Given the description of an element on the screen output the (x, y) to click on. 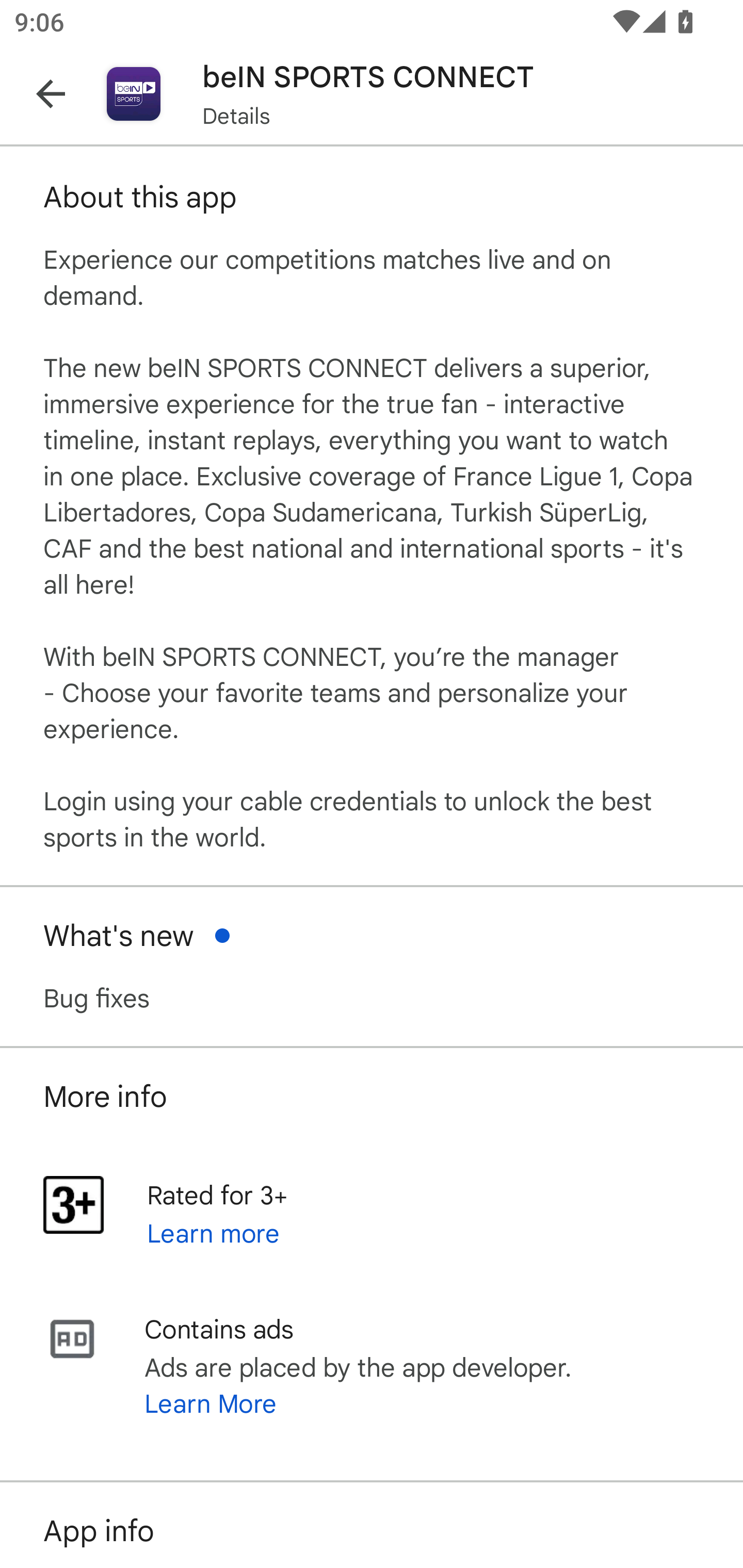
Navigate up (50, 93)
